Given the description of an element on the screen output the (x, y) to click on. 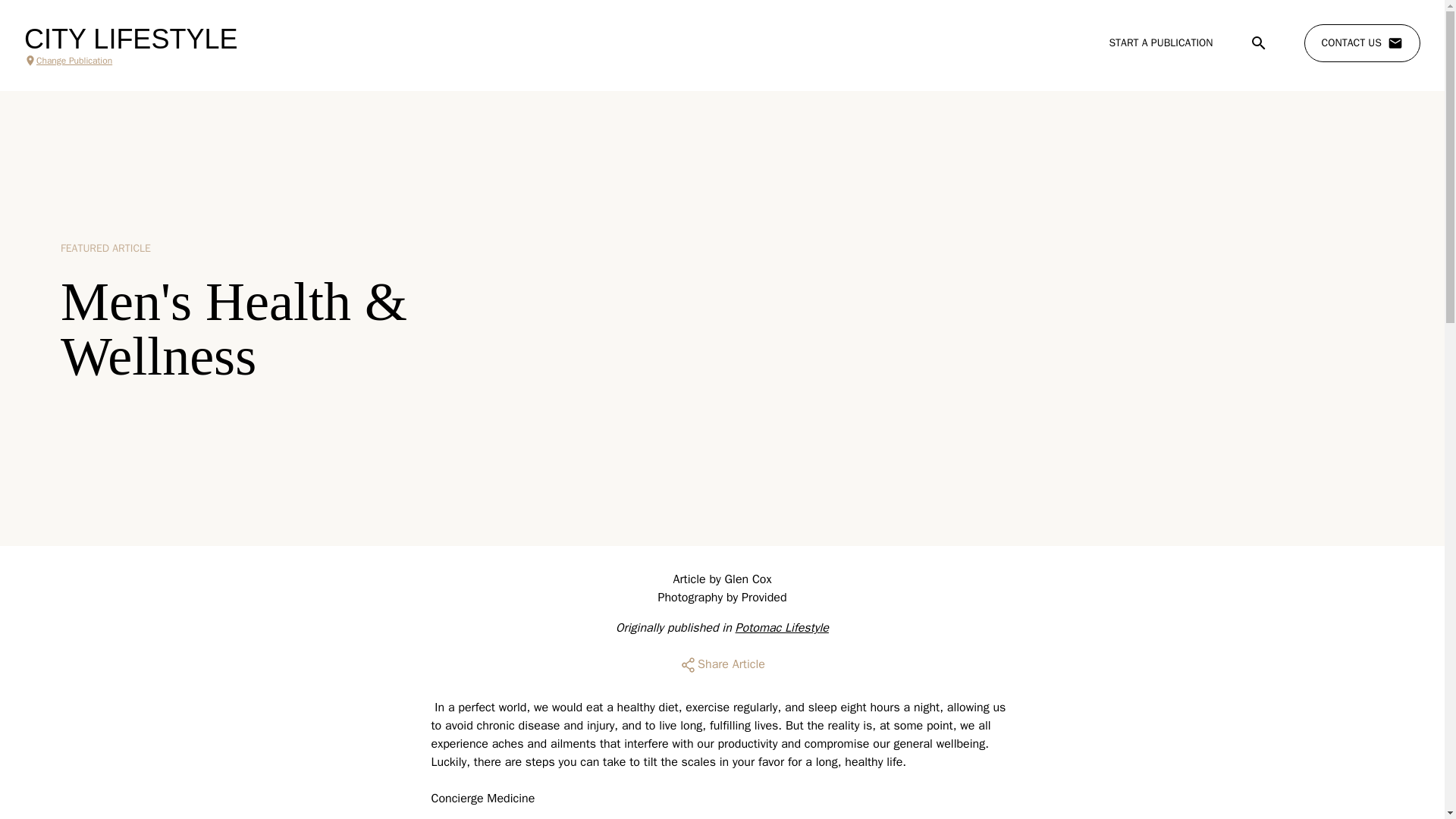
Share Article (722, 664)
CONTACT US (1362, 43)
Potomac Lifestyle (781, 627)
CITY LIFESTYLE (130, 39)
Change Publication (130, 60)
START A PUBLICATION (1160, 42)
